Given the description of an element on the screen output the (x, y) to click on. 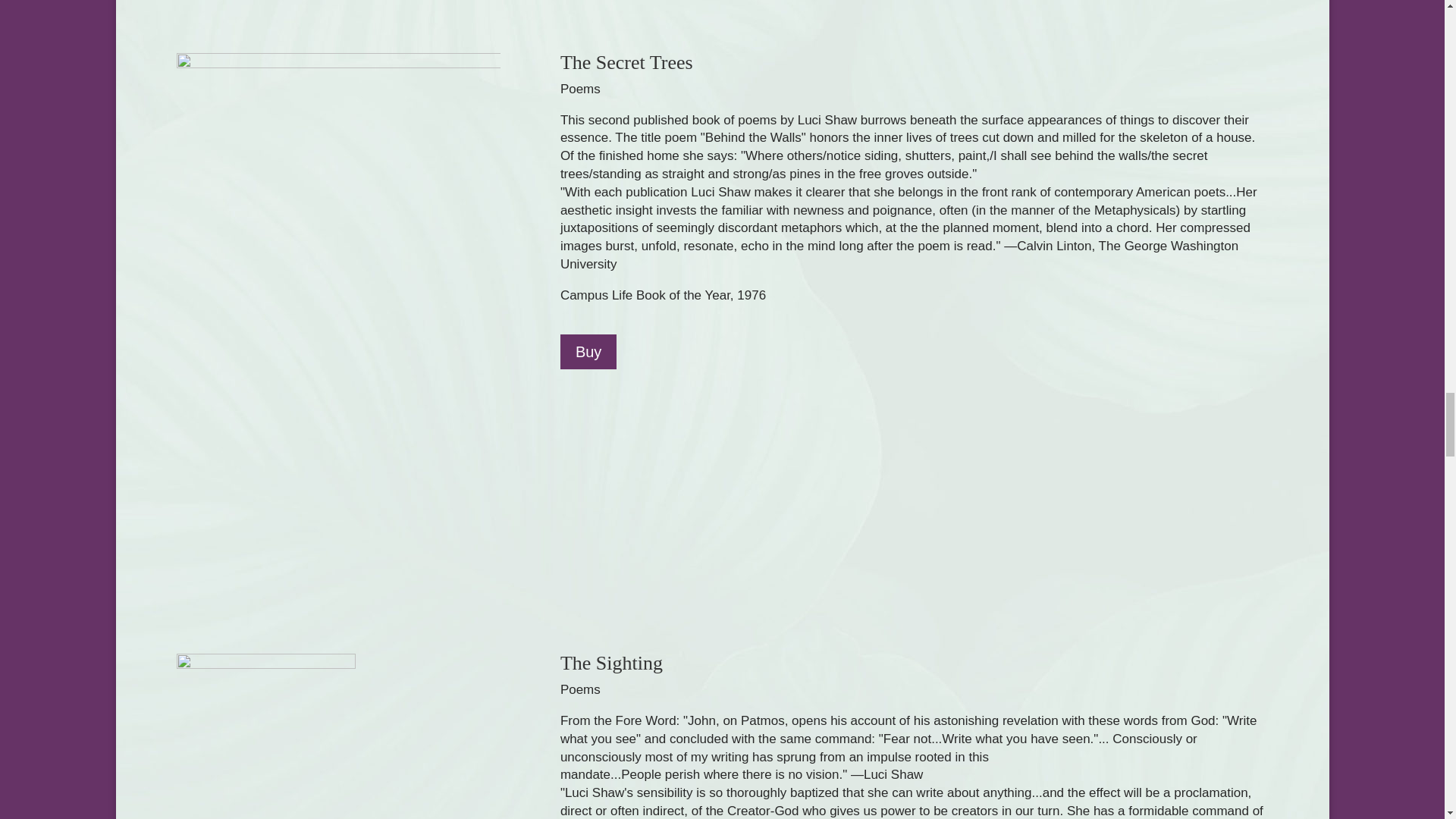
the-sighting (265, 736)
